Given the description of an element on the screen output the (x, y) to click on. 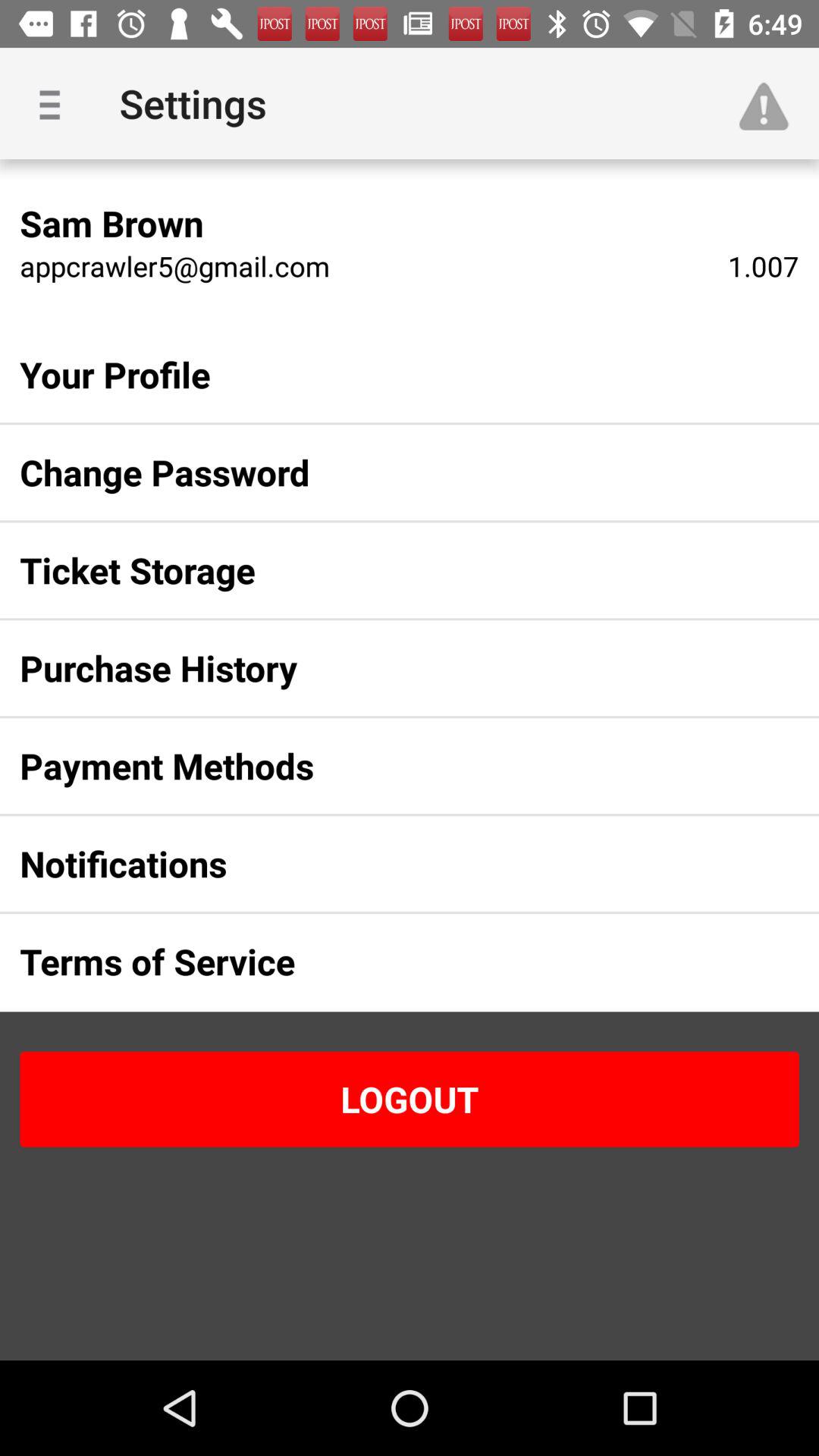
jump until your profile (385, 374)
